Given the description of an element on the screen output the (x, y) to click on. 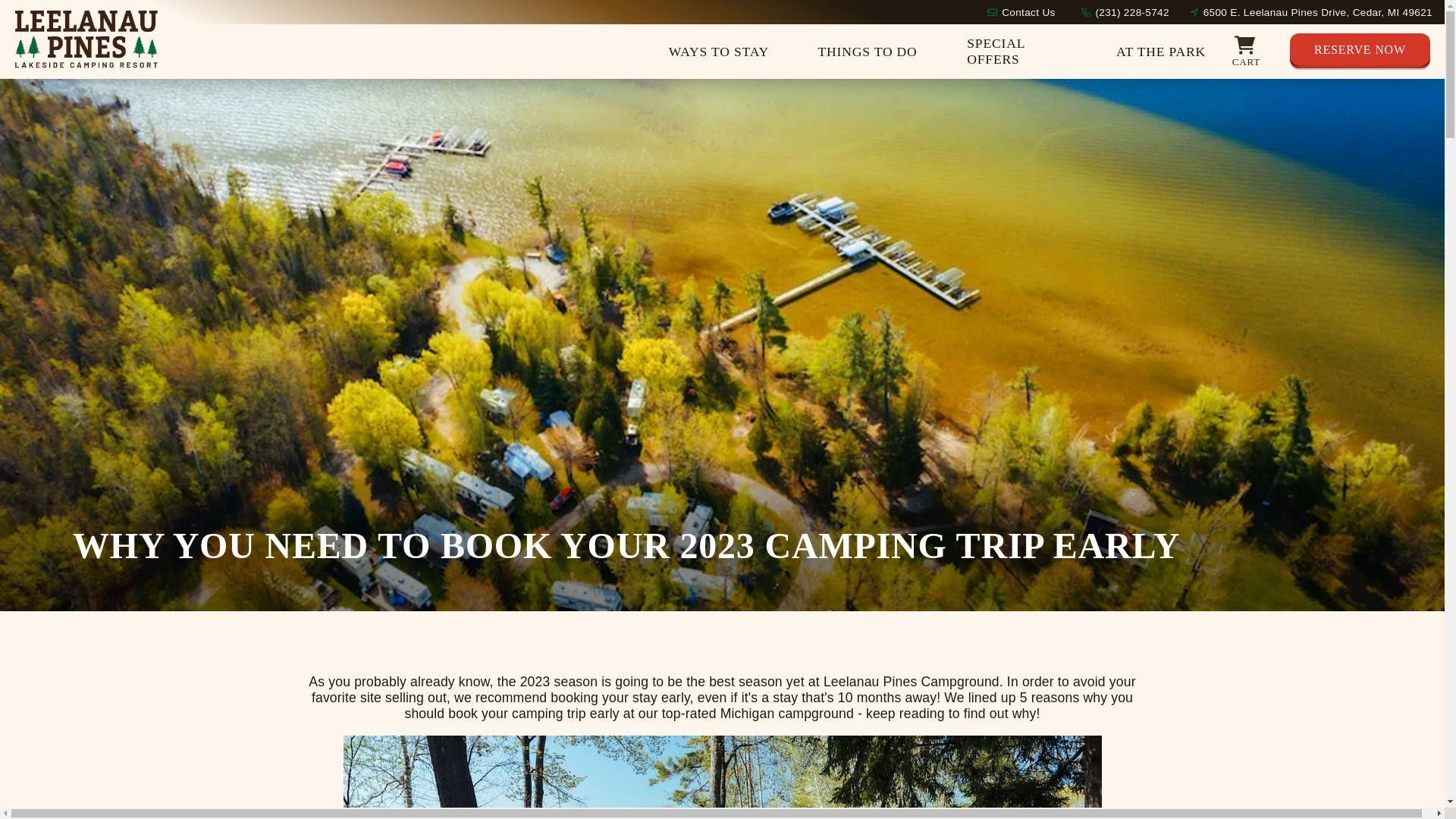
Contact Us (1027, 11)
RESERVE NOW (1359, 51)
6500 E. Leelanau Pines Drive, Cedar, MI 49621 (1318, 11)
SPECIAL OFFERS (1018, 51)
